Given the description of an element on the screen output the (x, y) to click on. 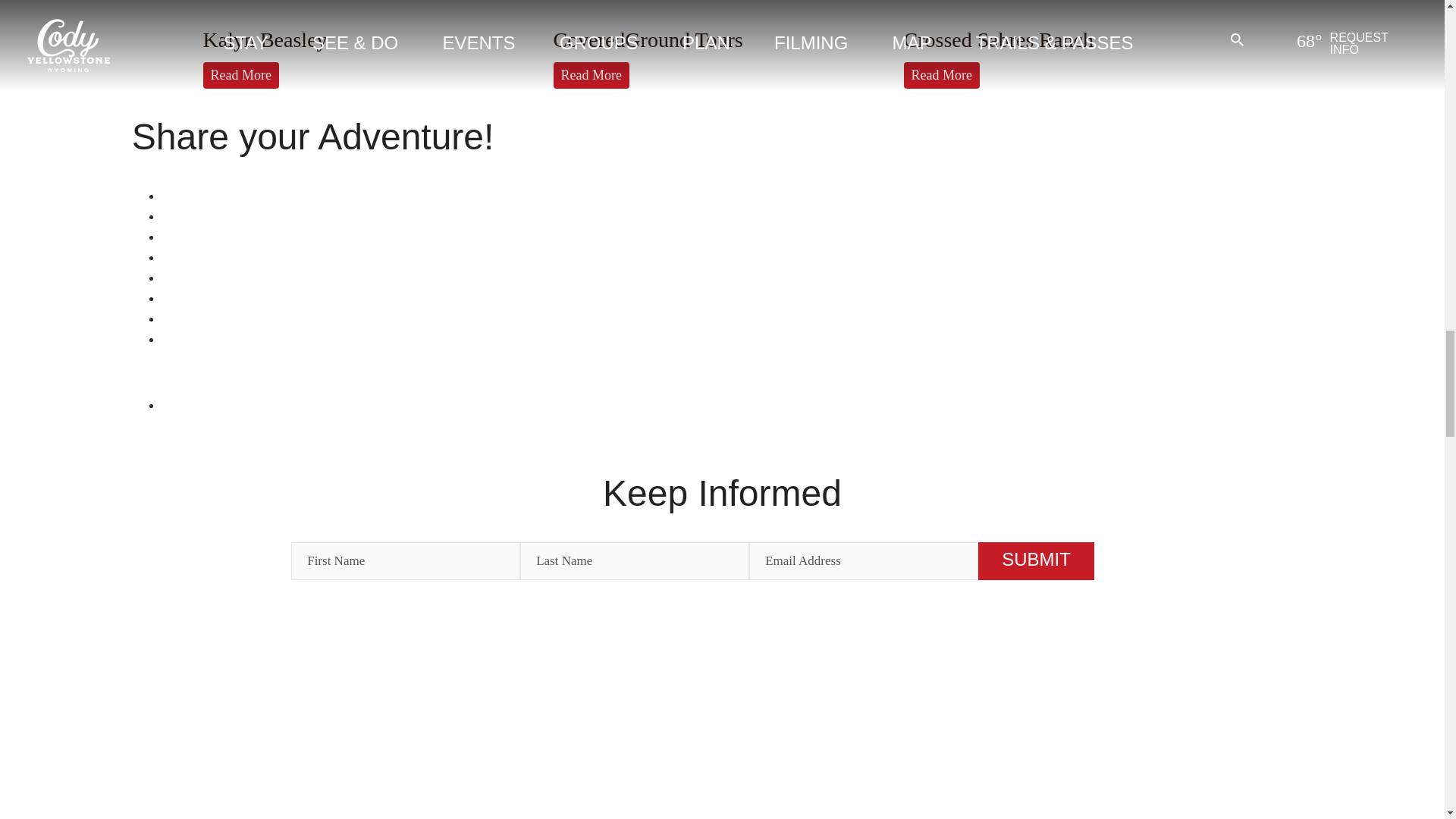
Submit (1036, 560)
Email Address (863, 560)
CoveredGround Tours (647, 39)
First Name (405, 560)
Kalyn Beasley (265, 39)
Read More (241, 75)
Outside Yellowstone (275, 404)
Last Name (634, 560)
